Given the description of an element on the screen output the (x, y) to click on. 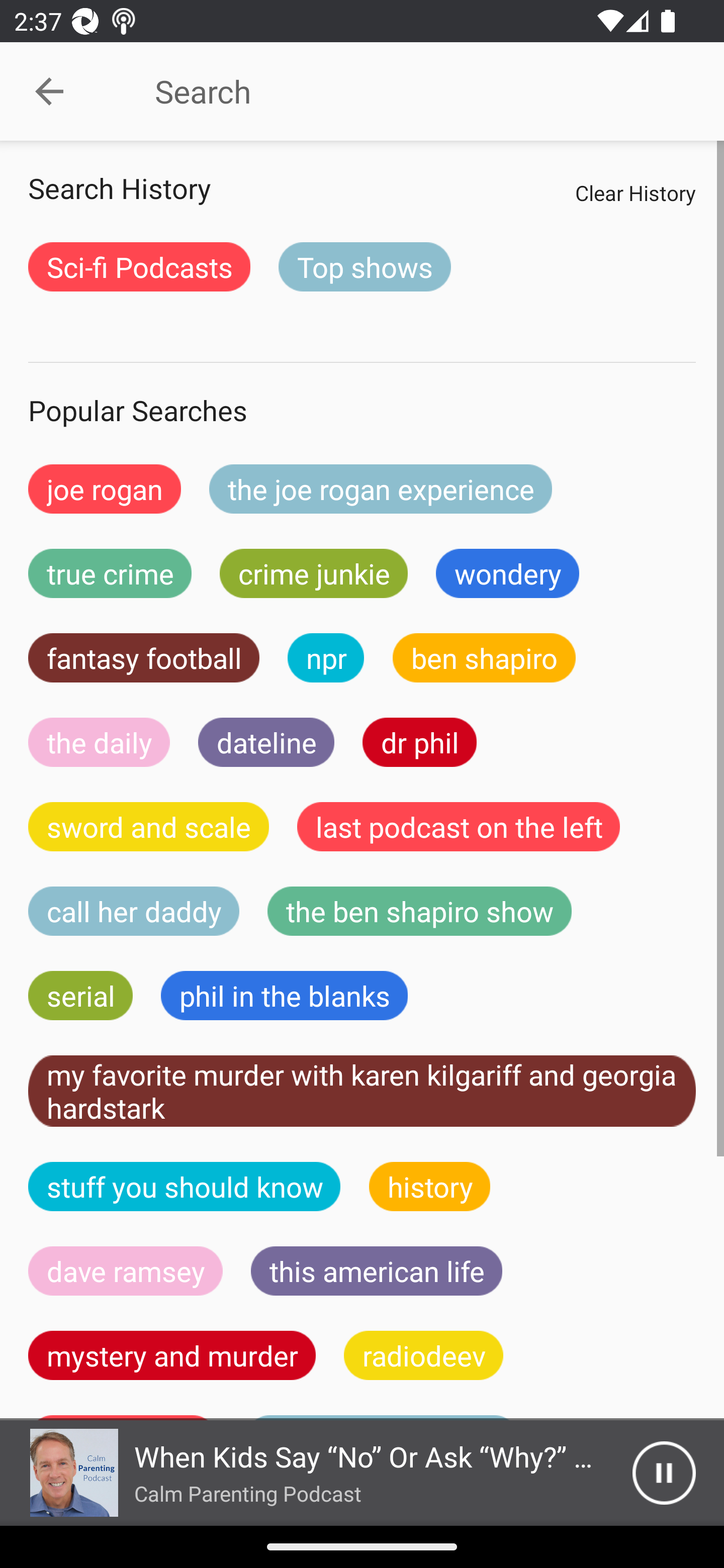
Collapse (49, 91)
Search (407, 91)
Clear History (634, 192)
Sci-fi Podcasts (139, 266)
Top shows (364, 266)
joe rogan (104, 489)
the joe rogan experience (380, 489)
true crime (109, 572)
crime junkie (313, 572)
wondery (507, 572)
fantasy football (143, 657)
npr (325, 657)
ben shapiro (483, 657)
the daily (99, 742)
dateline (266, 742)
dr phil (419, 742)
sword and scale (148, 826)
last podcast on the left (458, 826)
call her daddy (133, 910)
the ben shapiro show (419, 910)
serial (80, 995)
phil in the blanks (283, 995)
stuff you should know (184, 1185)
history (429, 1185)
dave ramsey (125, 1270)
this american life (376, 1270)
mystery and murder (171, 1355)
radiodeev (423, 1355)
Pause (663, 1472)
